Given the description of an element on the screen output the (x, y) to click on. 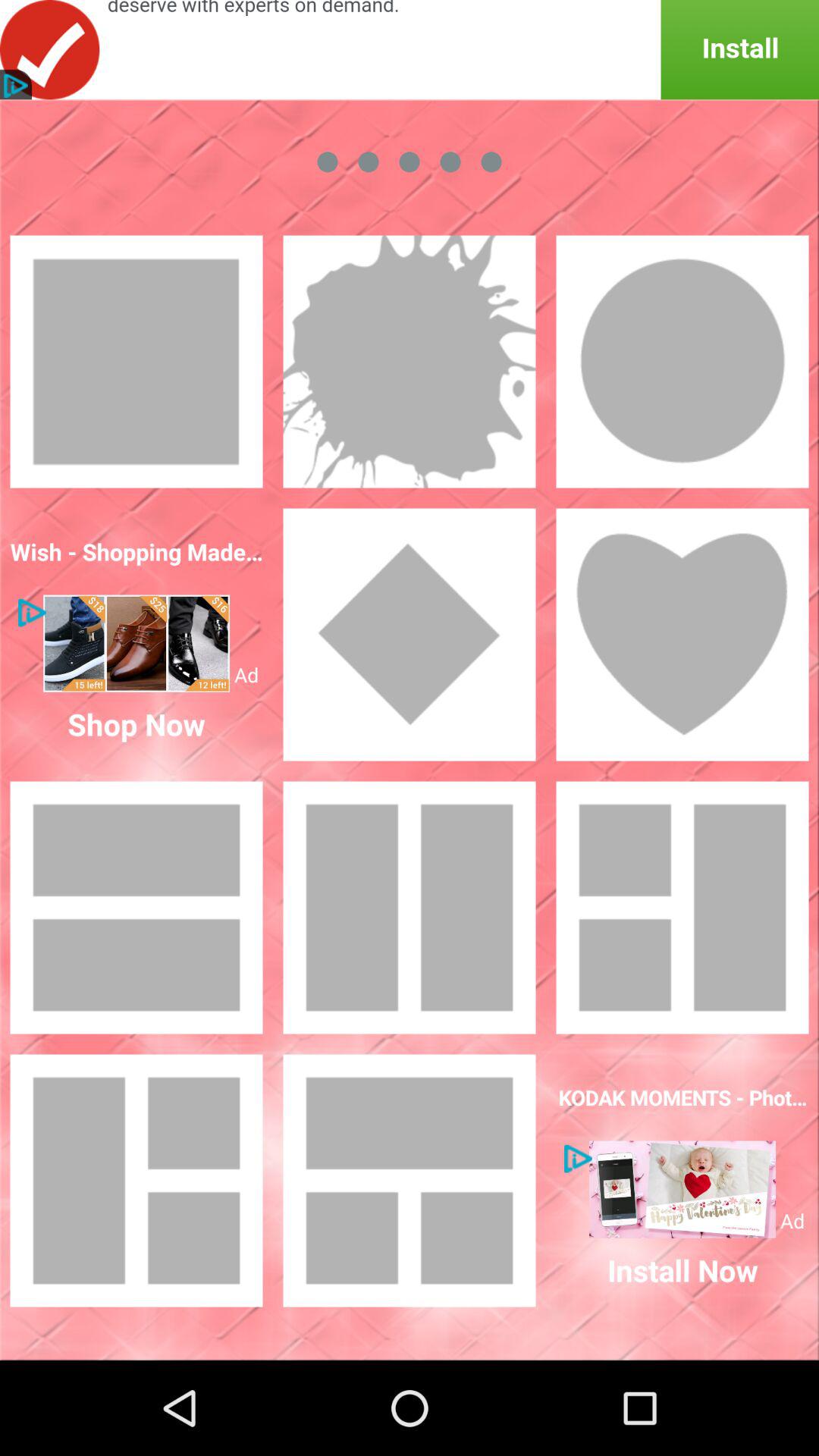
stick images (409, 361)
